Given the description of an element on the screen output the (x, y) to click on. 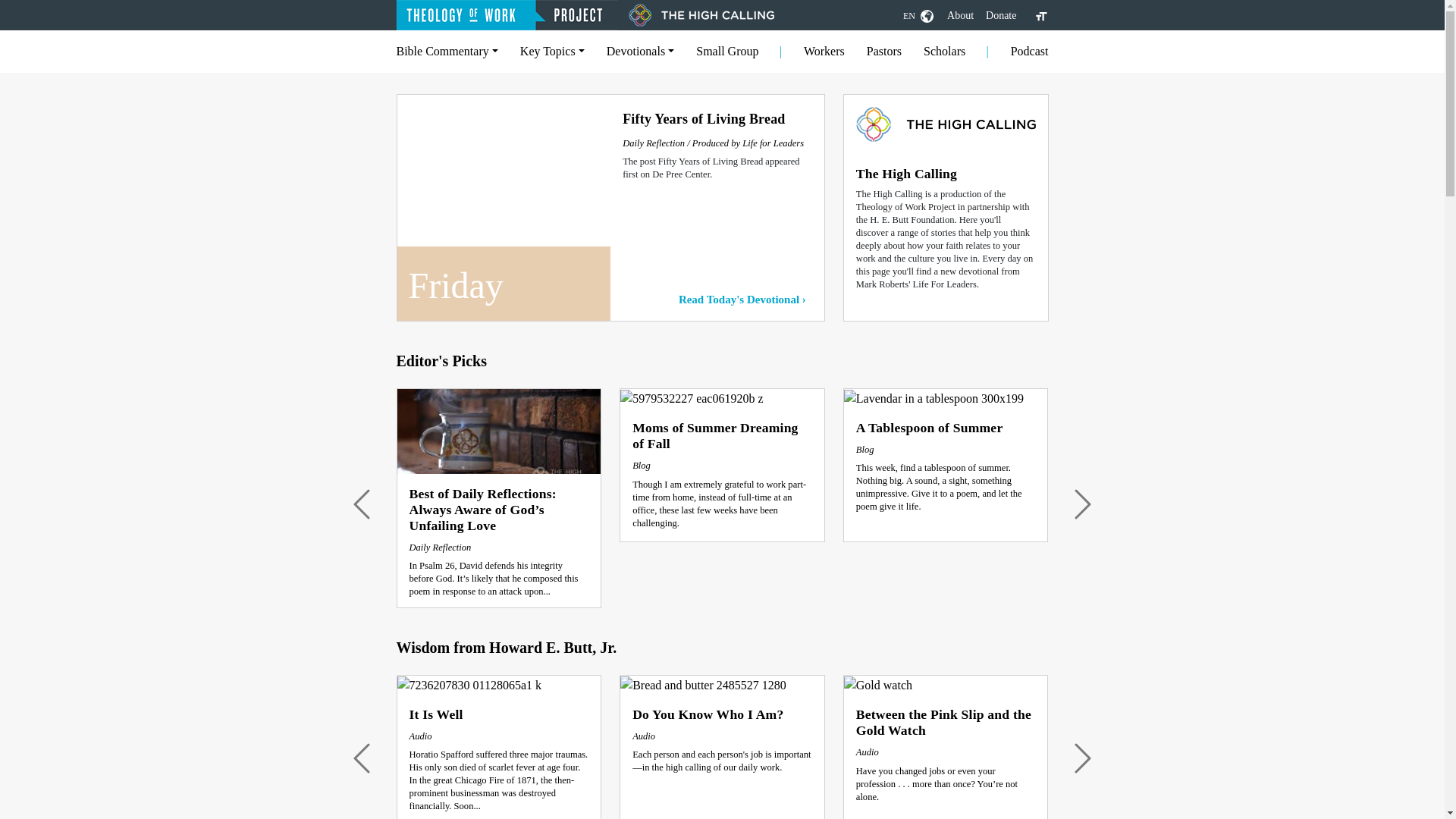
Donate (1000, 15)
EN (917, 15)
About (959, 15)
About (959, 15)
Bible Commentary (446, 51)
Donate (1000, 15)
